Given the description of an element on the screen output the (x, y) to click on. 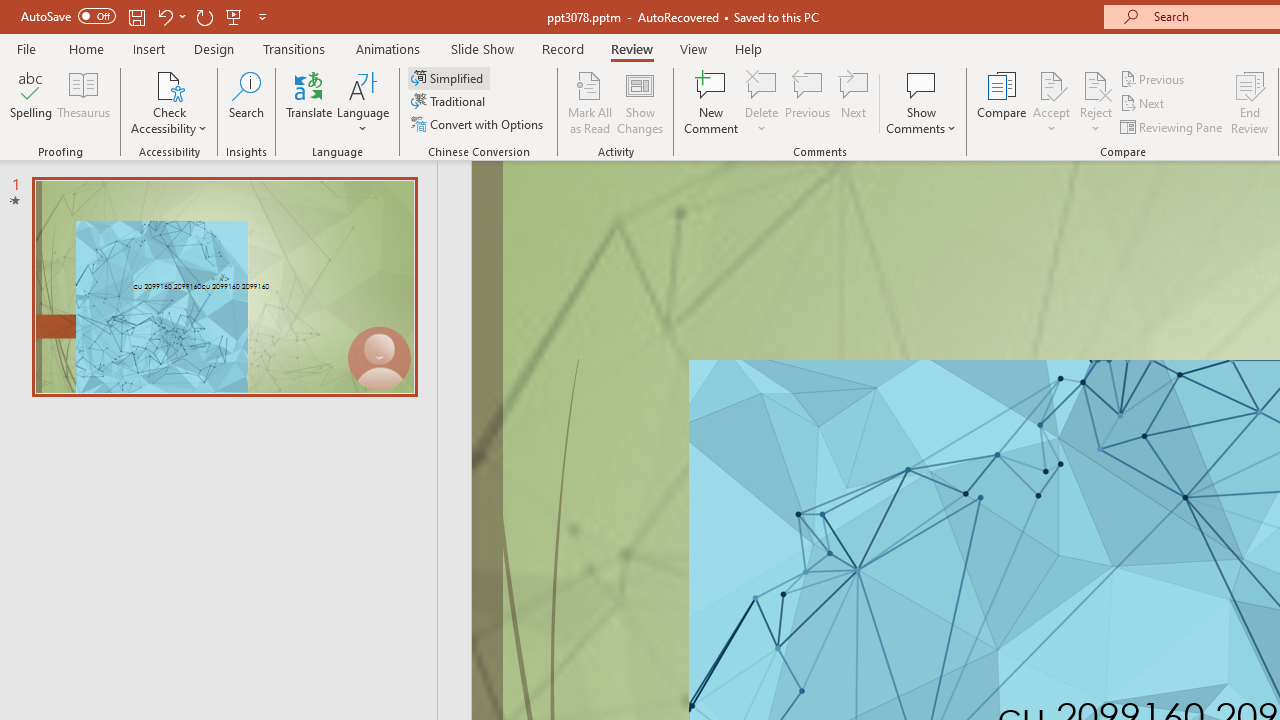
Reject Change (1096, 84)
Thesaurus... (83, 102)
Accept (1051, 102)
Previous (1153, 78)
Translate (309, 102)
New Comment (711, 102)
